Given the description of an element on the screen output the (x, y) to click on. 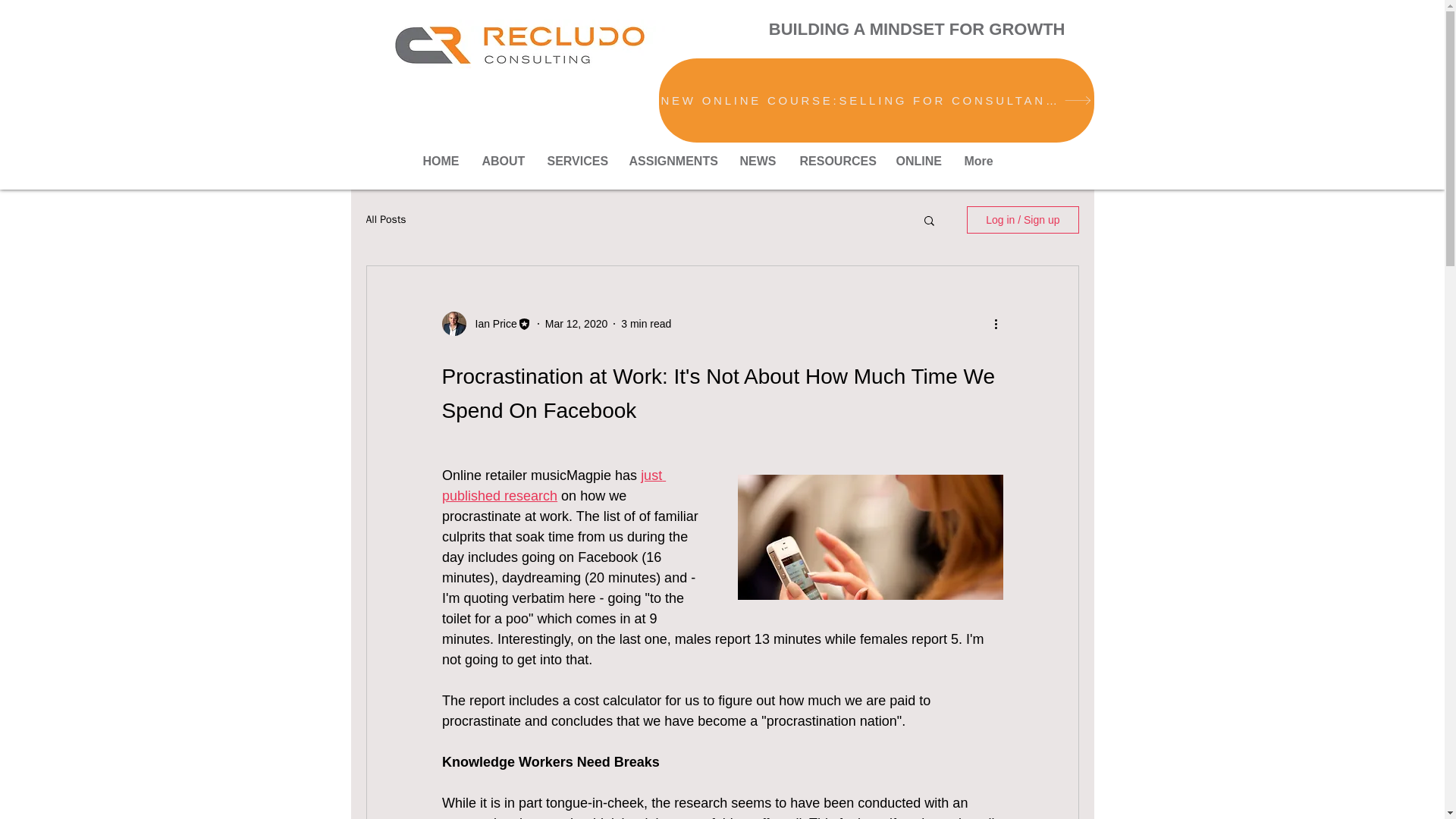
just published research (553, 485)
NEW ONLINE COURSE:SELLING FOR CONSULTANTS (875, 100)
Mar 12, 2020 (576, 322)
3 min read (646, 322)
RESOURCES (837, 160)
All Posts (385, 219)
Ian Price  (490, 323)
ASSIGNMENTS (672, 160)
NEWS (757, 160)
SERVICES (576, 160)
ONLINE (917, 160)
HOME (440, 160)
ABOUT (502, 160)
